Given the description of an element on the screen output the (x, y) to click on. 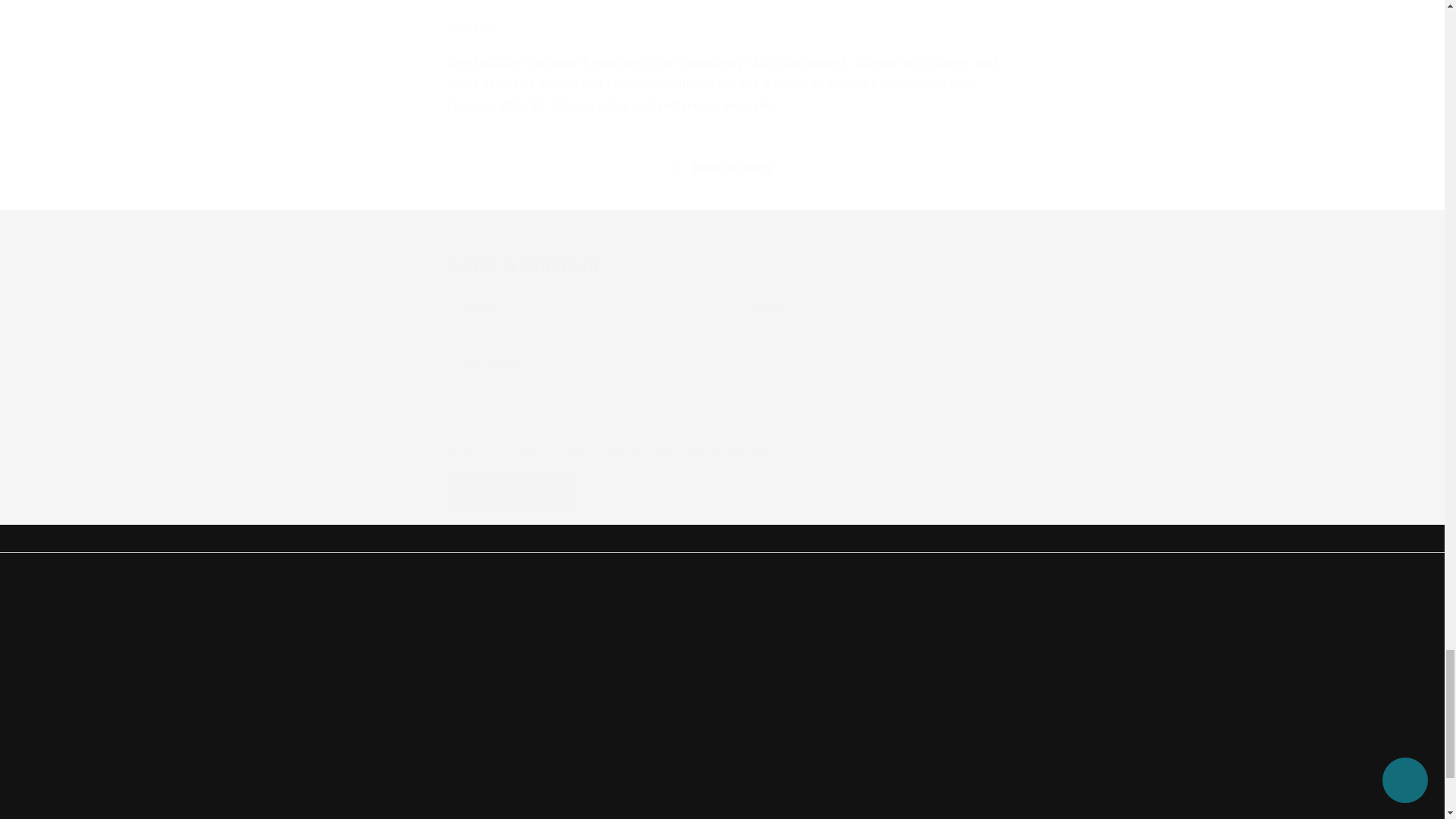
Post comment (1237, 701)
